Given the description of an element on the screen output the (x, y) to click on. 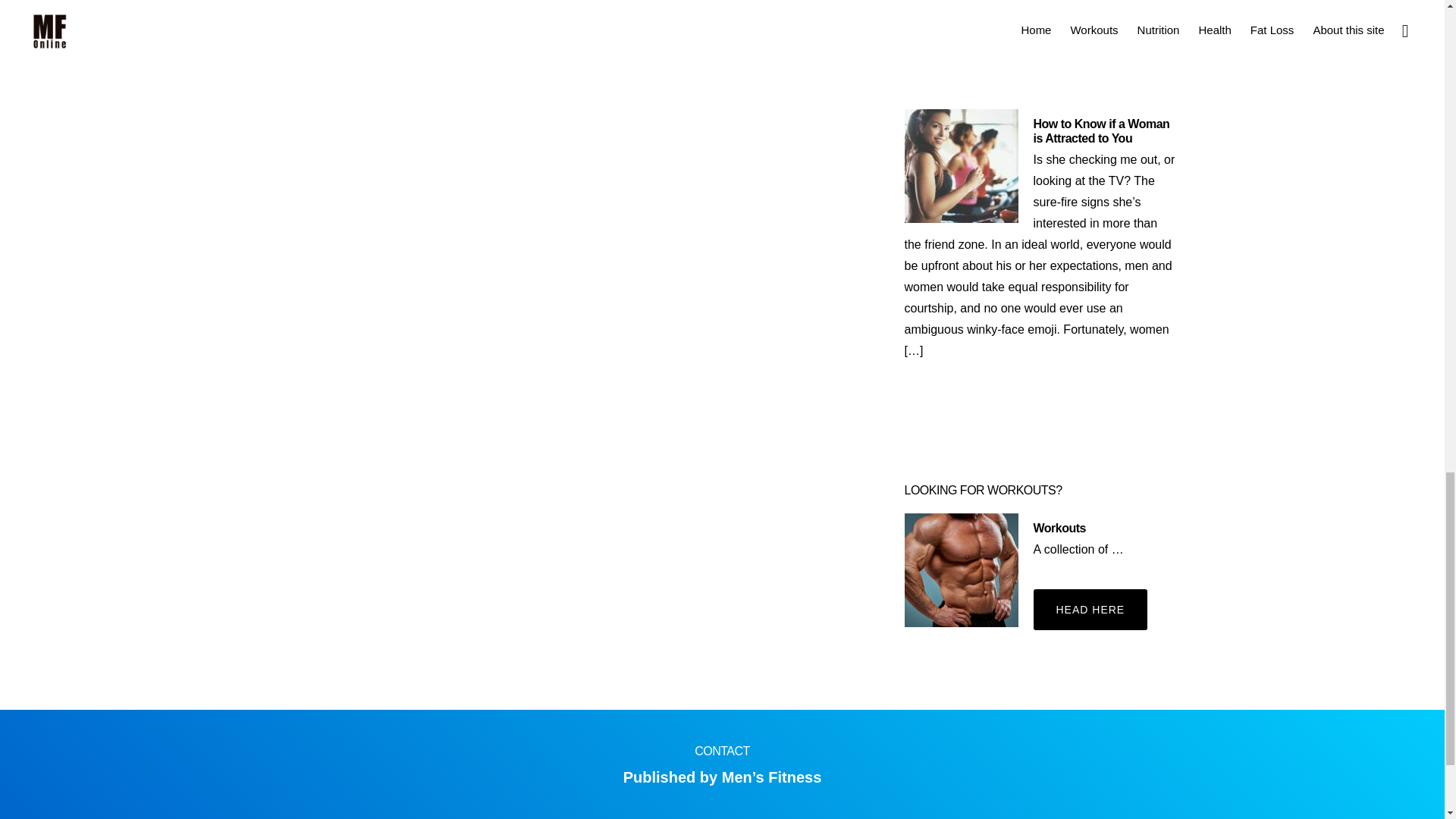
Workouts (1058, 527)
How to Know if a Woman is Attracted to You (1100, 130)
